Given the description of an element on the screen output the (x, y) to click on. 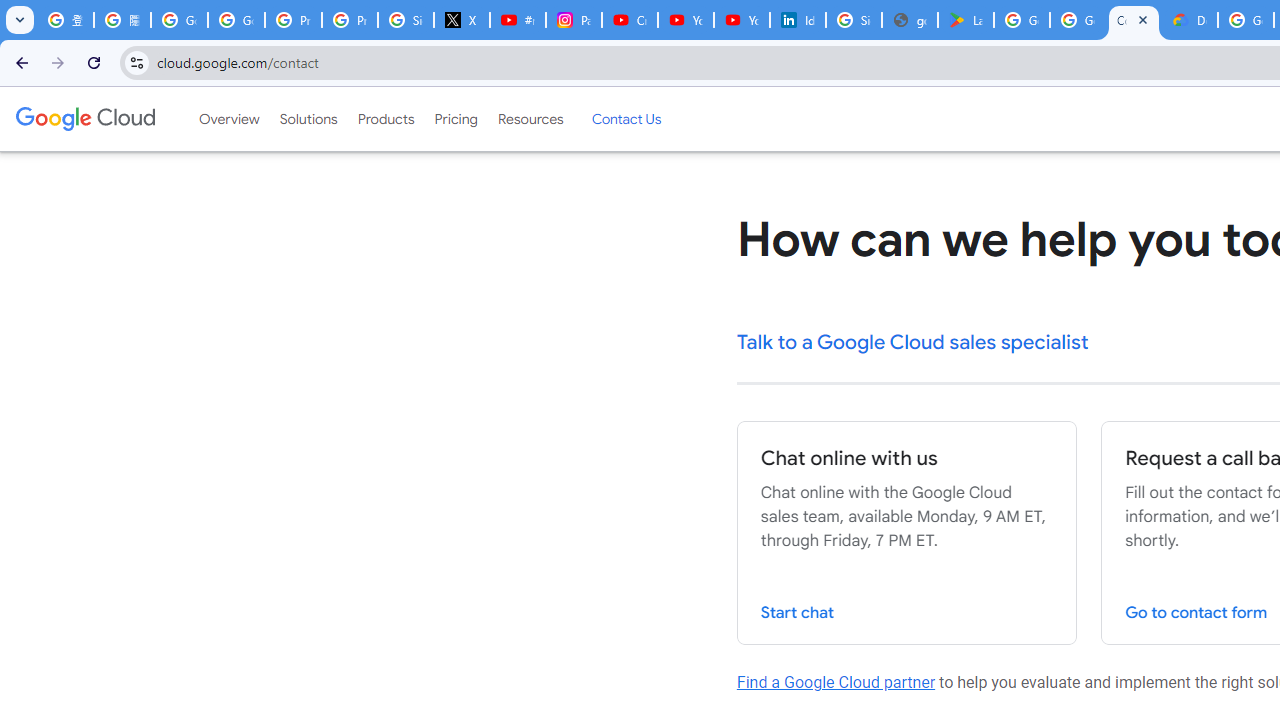
X (461, 20)
Pricing (455, 119)
Contact Us (626, 119)
#nbabasketballhighlights - YouTube (518, 20)
Google Cloud (84, 118)
